Given the description of an element on the screen output the (x, y) to click on. 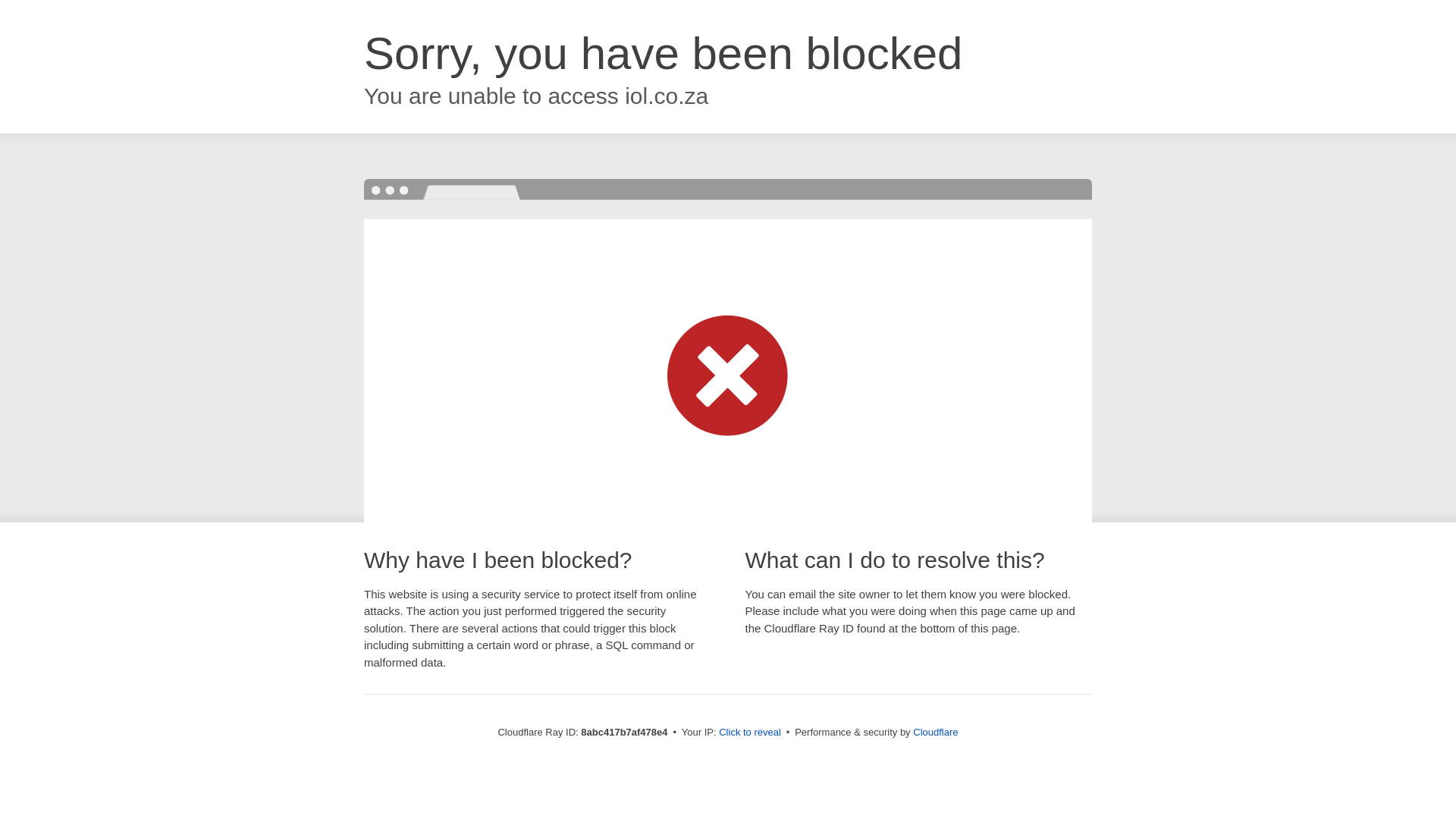
Cloudflare (935, 731)
Click to reveal (749, 732)
